Given the description of an element on the screen output the (x, y) to click on. 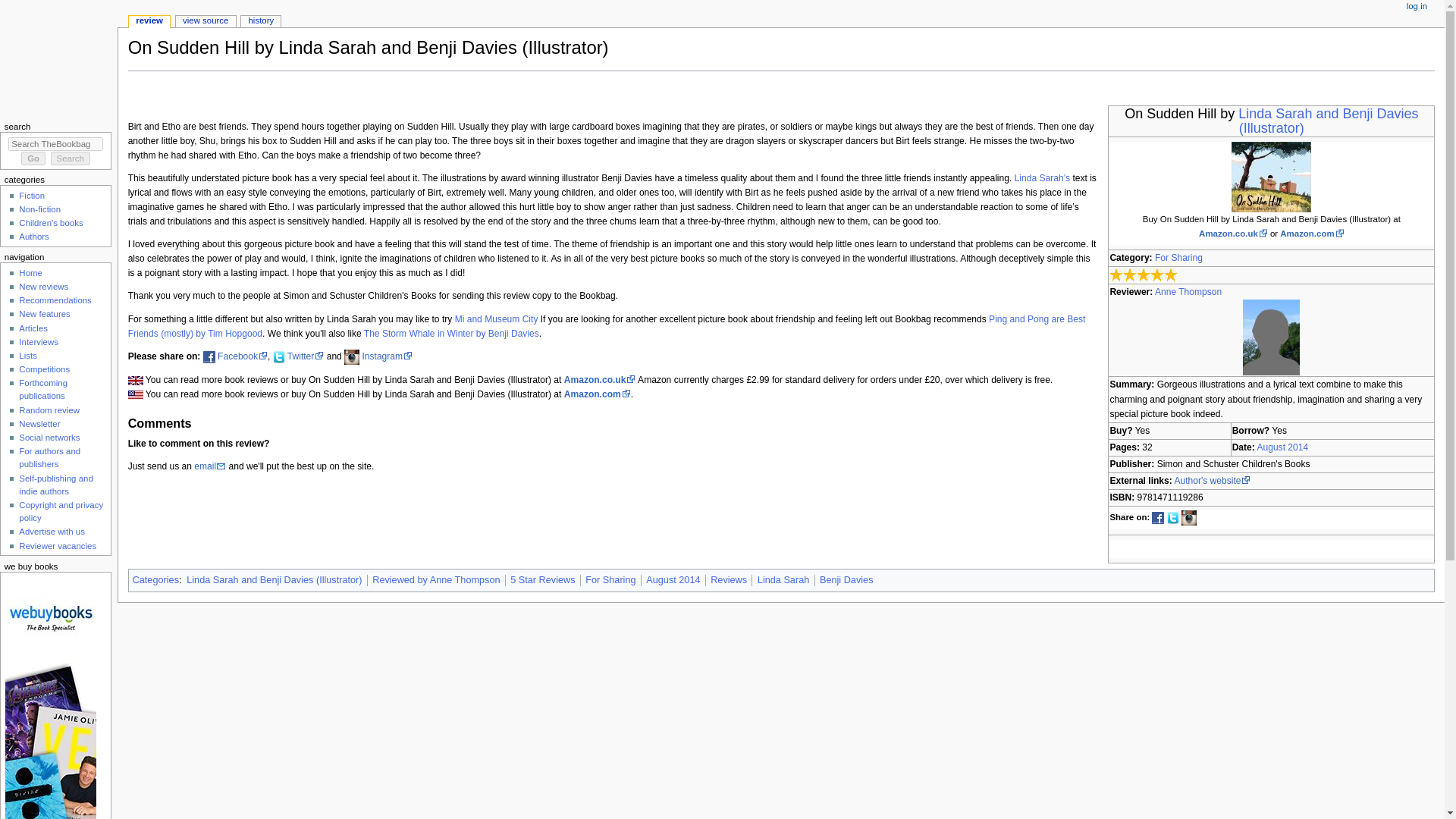
Anne Thompson (1187, 291)
Amazon.co.uk (1233, 233)
Reviewed by Anne Thompson (1271, 337)
Category:5 Star Reviews (543, 579)
August 2014 (673, 579)
Category:Linda Sarah (1042, 177)
email (209, 466)
Search (70, 158)
Category:Reviewed by Anne Thompson (435, 579)
5 Star Reviews (543, 579)
Reviews (728, 579)
Category:For Sharing (609, 579)
Special:Categories (155, 579)
Amazon.com (597, 394)
August 2014 (1281, 447)
